Given the description of an element on the screen output the (x, y) to click on. 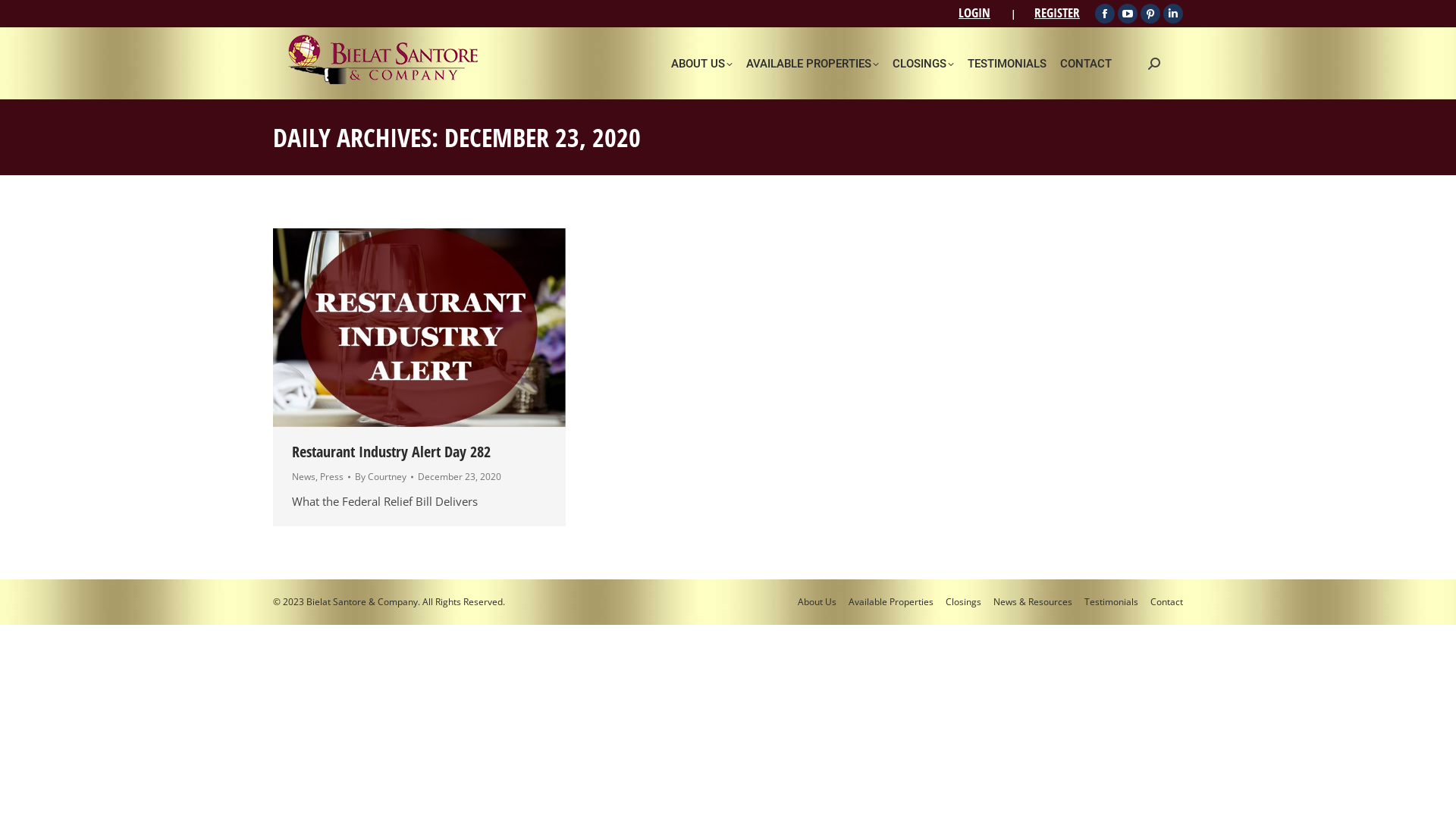
Facebook page opens in new window Element type: text (1104, 13)
Available Properties Element type: text (890, 601)
December 23, 2020 Element type: text (459, 476)
ABOUT US Element type: text (704, 63)
LOGIN Element type: text (974, 12)
Restaurant-Industry-Alert-Photo Element type: hover (419, 327)
Testimonials Element type: text (1111, 601)
News Element type: text (303, 476)
Press Element type: text (331, 476)
Restaurant Industry Alert Day 282 Element type: text (390, 451)
REGISTER Element type: text (1056, 12)
News & Resources Element type: text (1032, 601)
TESTIMONIALS Element type: text (1009, 63)
YouTube page opens in new window Element type: text (1127, 13)
Contact Element type: text (1166, 601)
Pinterest page opens in new window Element type: text (1150, 13)
By Courtney Element type: text (383, 476)
CLOSINGS Element type: text (925, 63)
Closings Element type: text (963, 601)
Linkedin page opens in new window Element type: text (1173, 13)
CONTACT Element type: text (1088, 63)
AVAILABLE PROPERTIES Element type: text (814, 63)
About Us Element type: text (816, 601)
Go! Element type: text (23, 15)
